Given the description of an element on the screen output the (x, y) to click on. 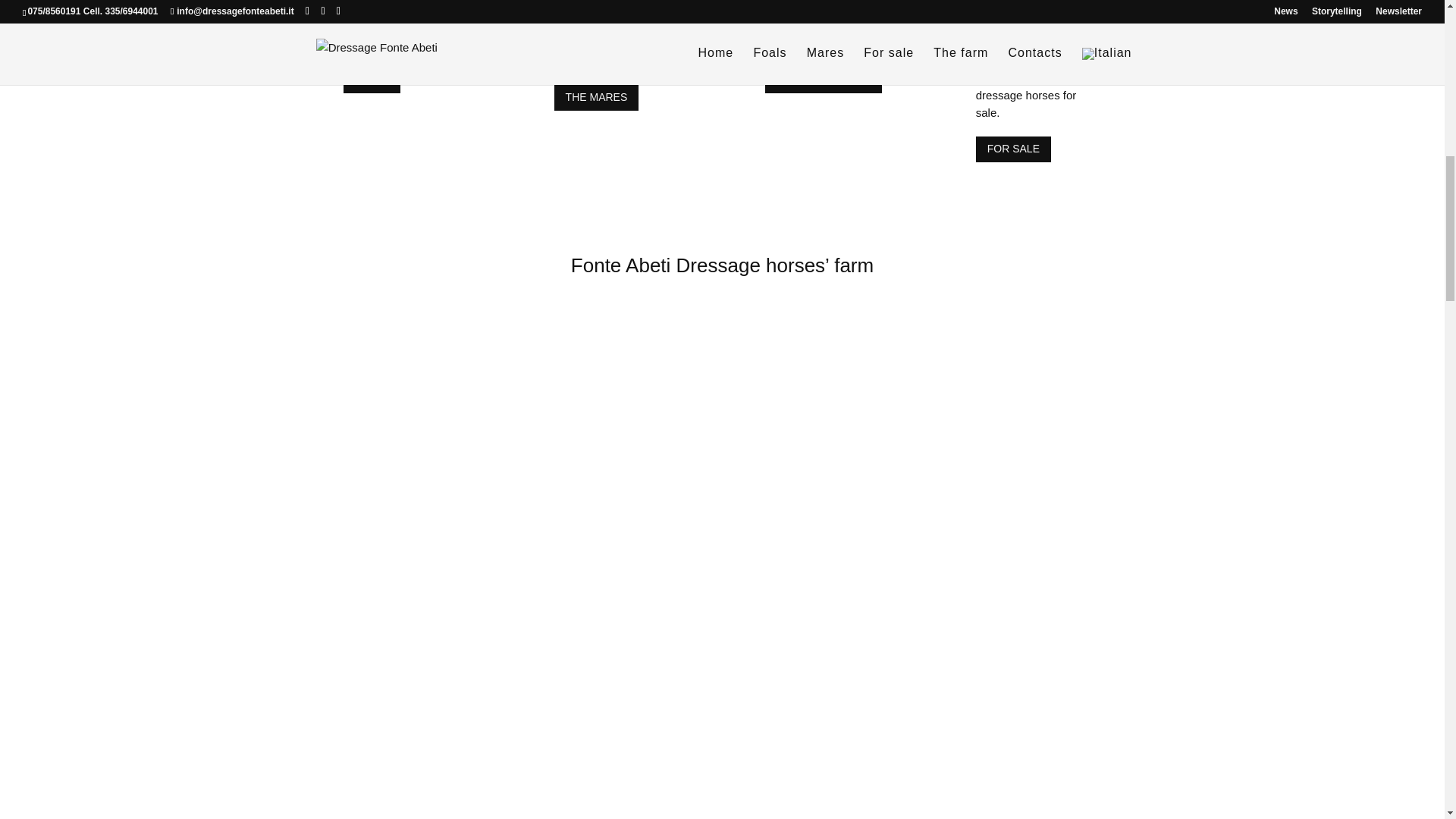
TRAINED HORSES (823, 80)
THE MARES (596, 96)
FOALS (371, 80)
FOR SALE (1013, 149)
